Given the description of an element on the screen output the (x, y) to click on. 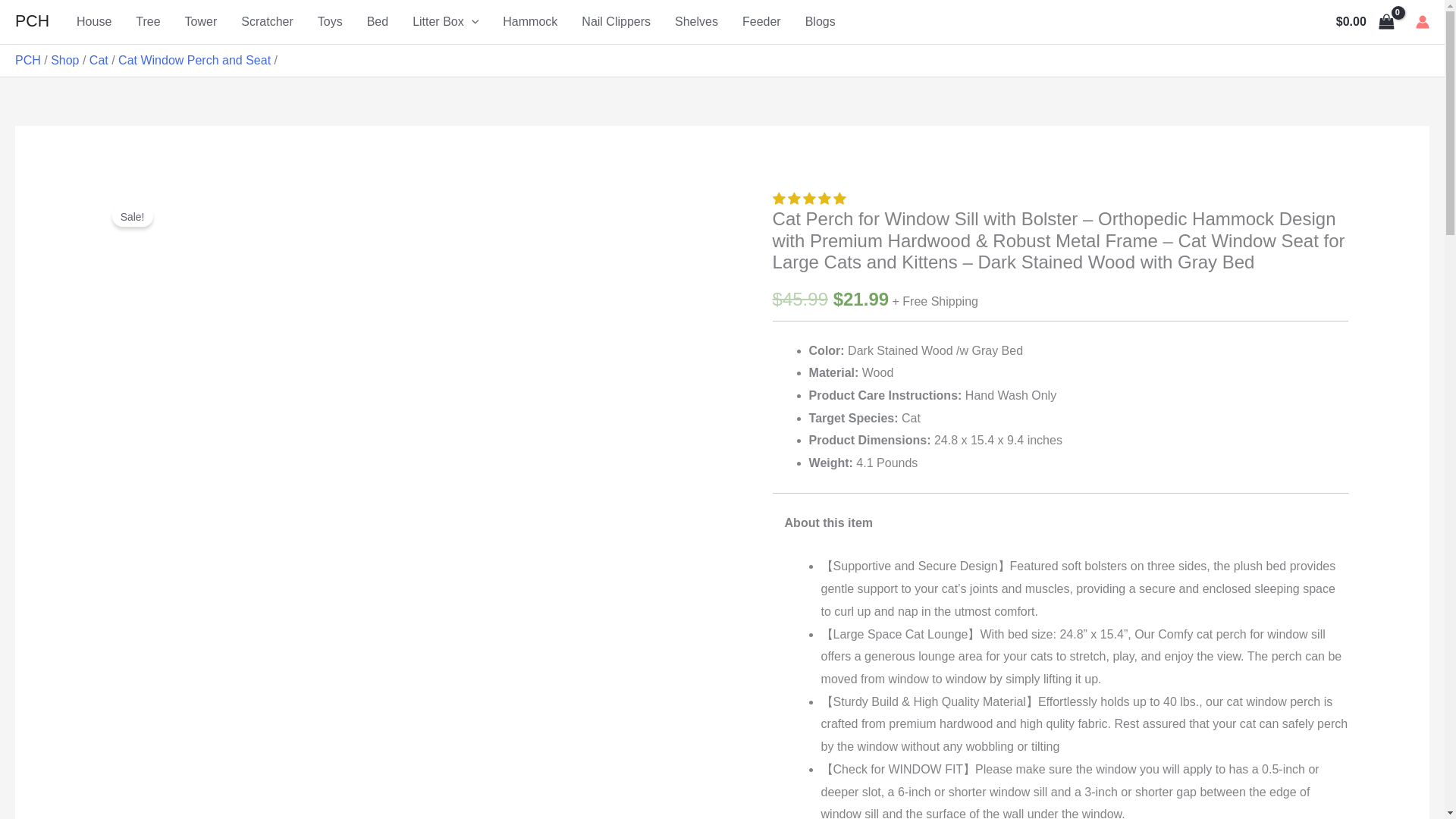
Tree (147, 21)
Toys (330, 21)
Nail Clippers (615, 21)
Tower (201, 21)
PCH (31, 21)
Bed (377, 21)
Shelves (696, 21)
Hammock (529, 21)
PCH (27, 60)
House (93, 21)
